Given the description of an element on the screen output the (x, y) to click on. 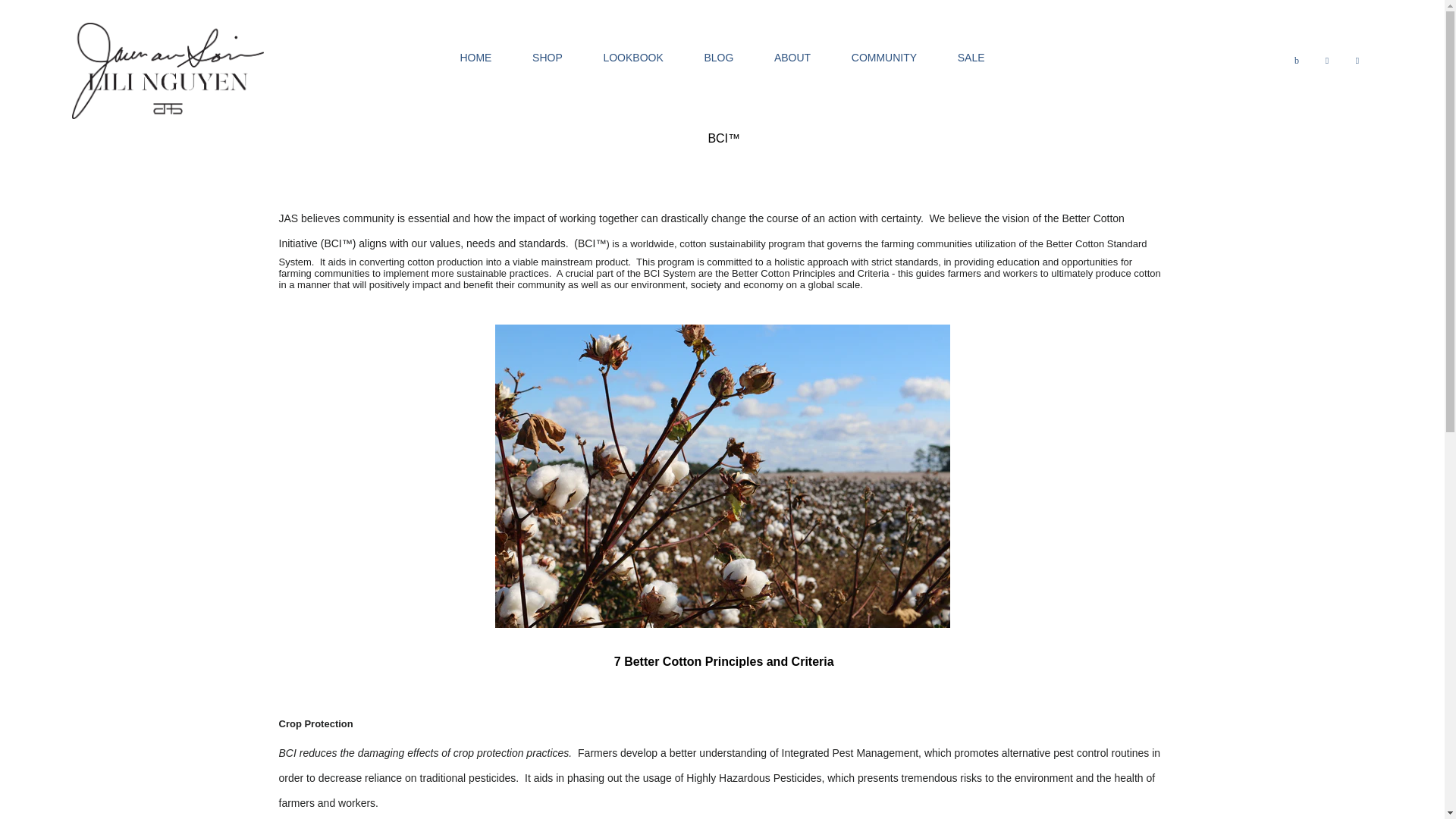
SHOP (547, 57)
ABOUT (792, 57)
HOME (475, 57)
BLOG (718, 57)
LOOKBOOK (632, 57)
SALE (970, 57)
COMMUNITY (884, 57)
My Account (1326, 56)
